Given the description of an element on the screen output the (x, y) to click on. 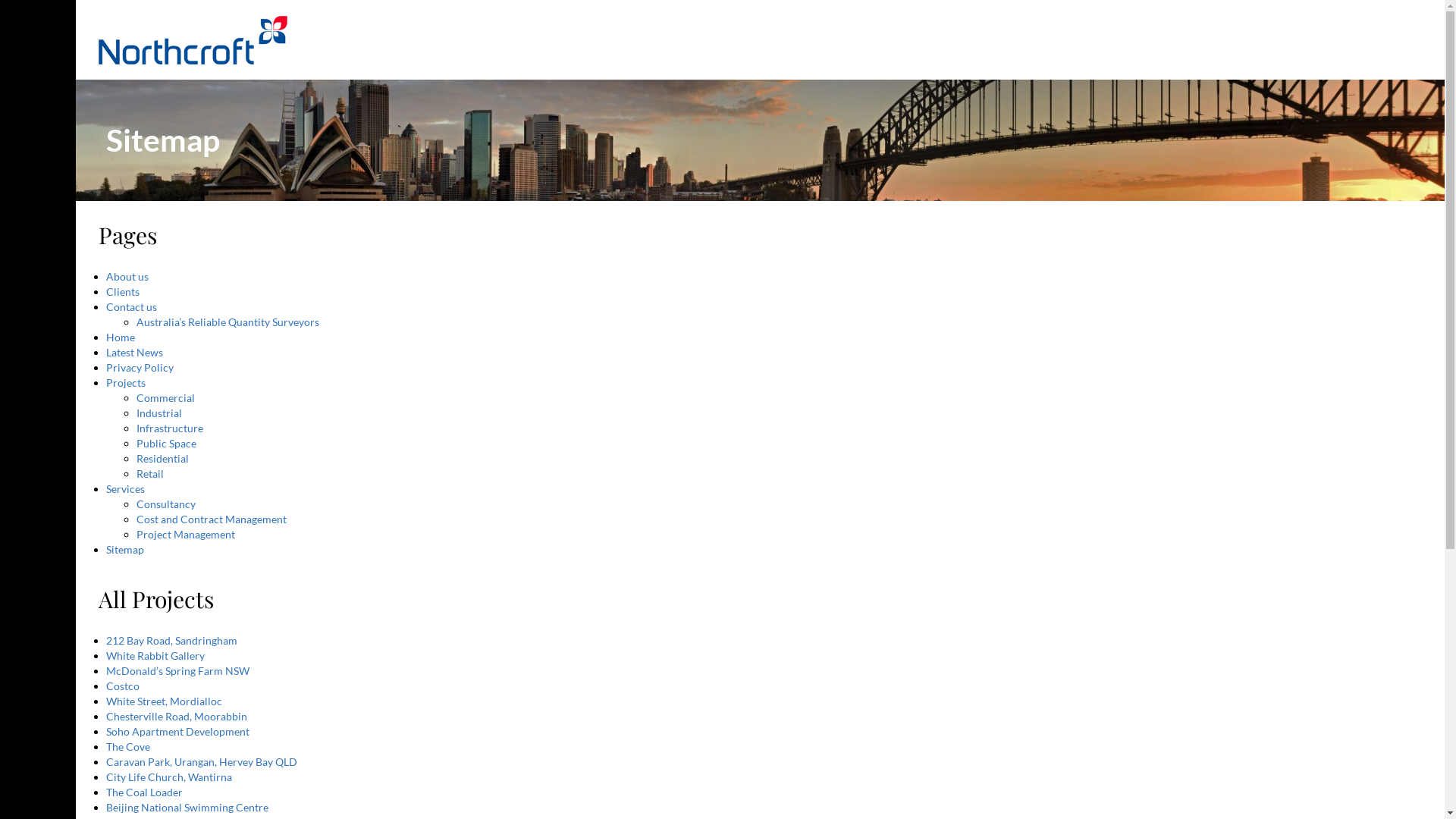
Home Element type: text (120, 336)
Public Space Element type: text (166, 442)
Latest News Element type: text (134, 351)
Services Element type: text (125, 488)
212 Bay Road, Sandringham Element type: text (171, 639)
Sitemap Element type: text (125, 548)
White Street, Mordialloc Element type: text (164, 700)
Residential Element type: text (162, 457)
Privacy Policy Element type: text (139, 366)
White Rabbit Gallery Element type: text (155, 655)
Retail Element type: text (149, 473)
Industrial Element type: text (159, 412)
Chesterville Road, Moorabbin Element type: text (176, 715)
Costco Element type: text (122, 685)
Clients Element type: text (122, 291)
Beijing National Swimming Centre Element type: text (187, 806)
About us Element type: text (127, 275)
Commercial Element type: text (165, 397)
Cost and Contract Management Element type: text (211, 518)
City Life Church, Wantirna Element type: text (169, 776)
Caravan Park, Urangan, Hervey Bay QLD Element type: text (201, 761)
Soho Apartment Development Element type: text (177, 730)
Contact us Element type: text (131, 306)
Projects Element type: text (125, 382)
Project Management Element type: text (185, 533)
Infrastructure Element type: text (169, 427)
Consultancy Element type: text (165, 503)
The Cove Element type: text (128, 746)
The Coal Loader Element type: text (144, 791)
